Given the description of an element on the screen output the (x, y) to click on. 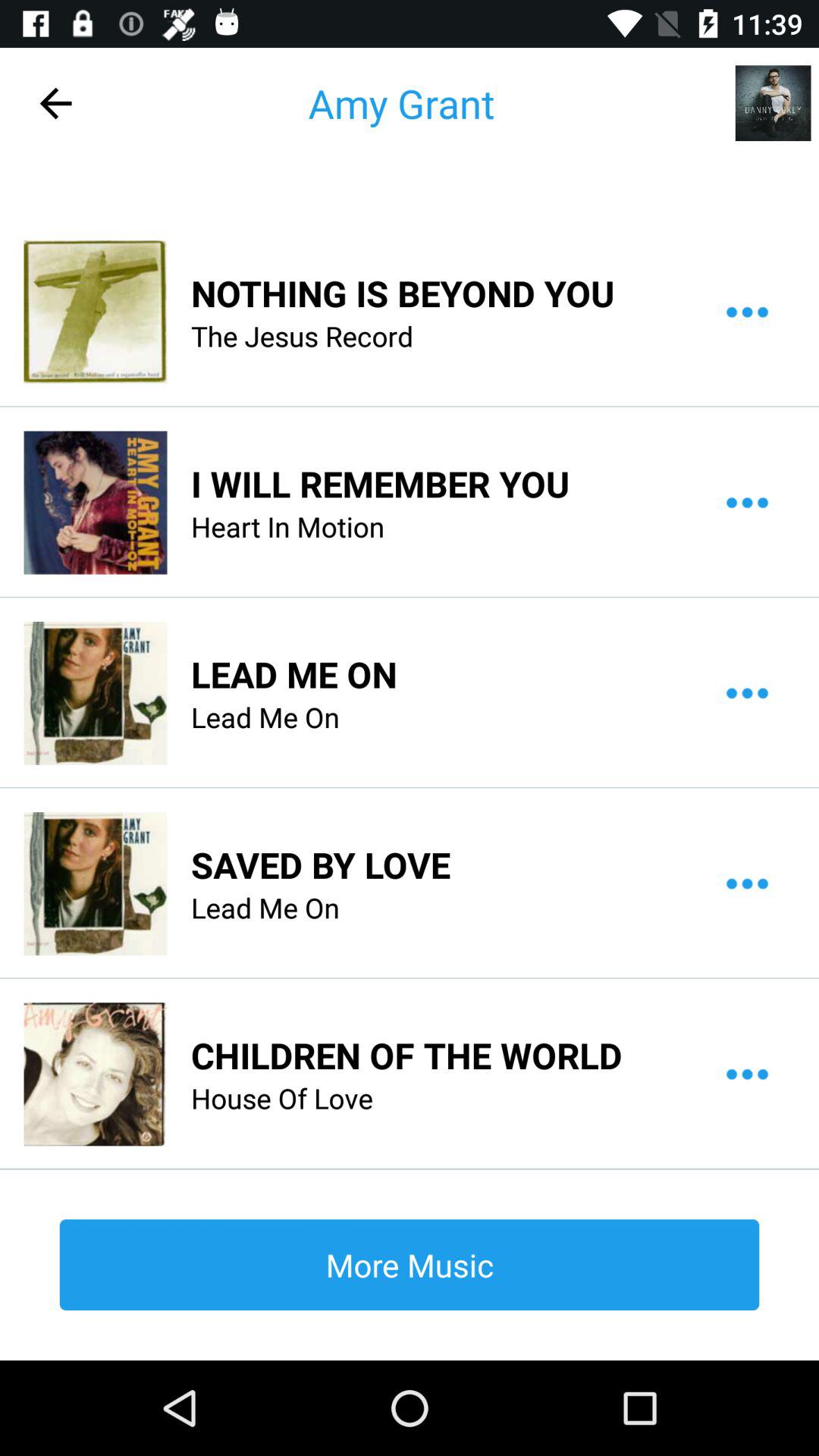
turn on the icon above the lead me on icon (287, 526)
